Given the description of an element on the screen output the (x, y) to click on. 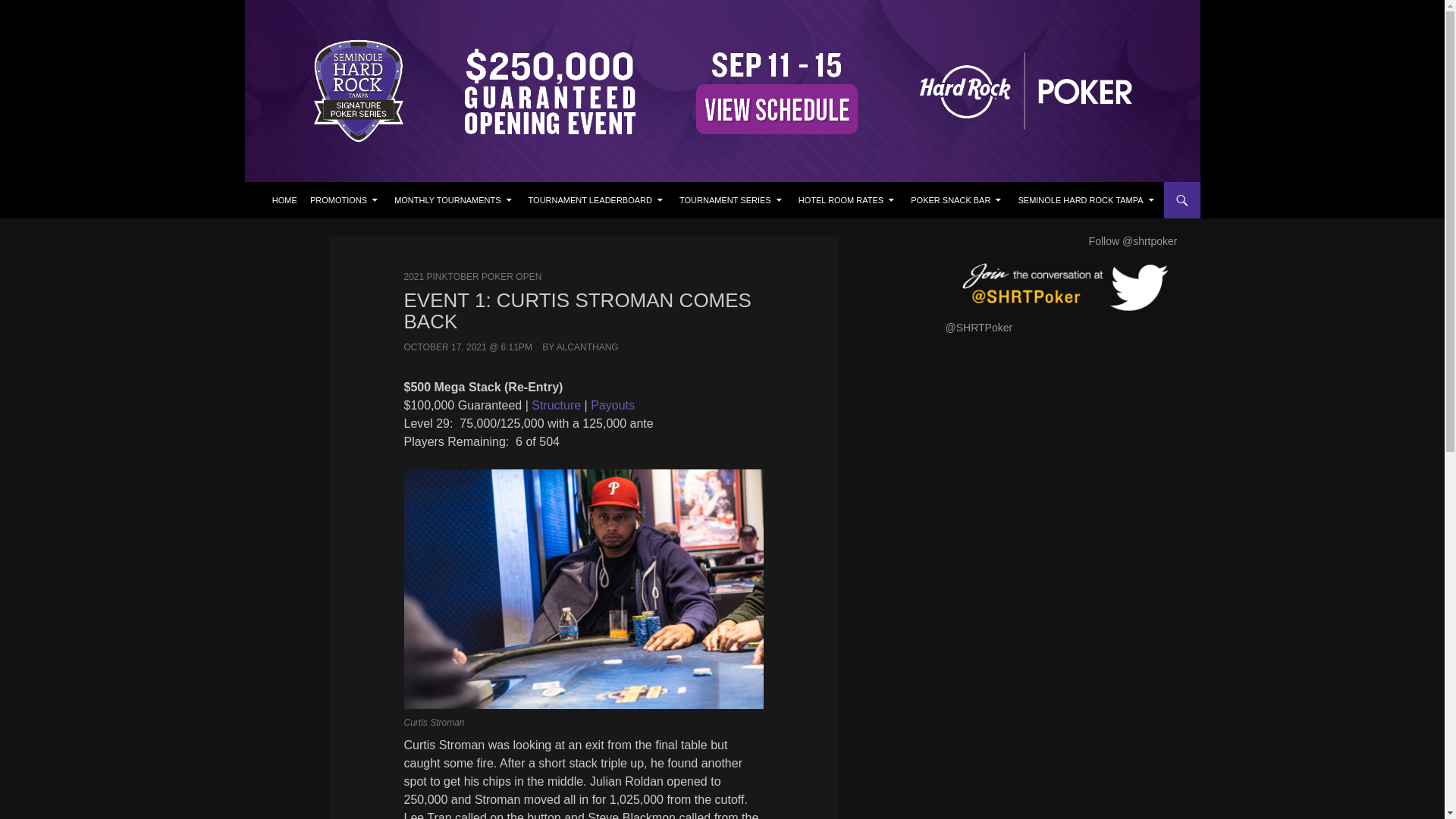
TOURNAMENT SERIES (732, 199)
PROMOTIONS (345, 199)
HOTEL ROOM RATES (847, 199)
2021 PINKTOBER POKER OPEN (472, 276)
POKER SNACK BAR (957, 199)
MONTHLY TOURNAMENTS (453, 199)
Structure (555, 404)
Payouts (612, 404)
TOURNAMENT LEADERBOARD (596, 199)
ALCANTHANG (587, 347)
SEMINOLE HARD ROCK TAMPA (1086, 199)
HOME (284, 199)
Seminole Hard Rock Tampa Poker (376, 199)
